Given the description of an element on the screen output the (x, y) to click on. 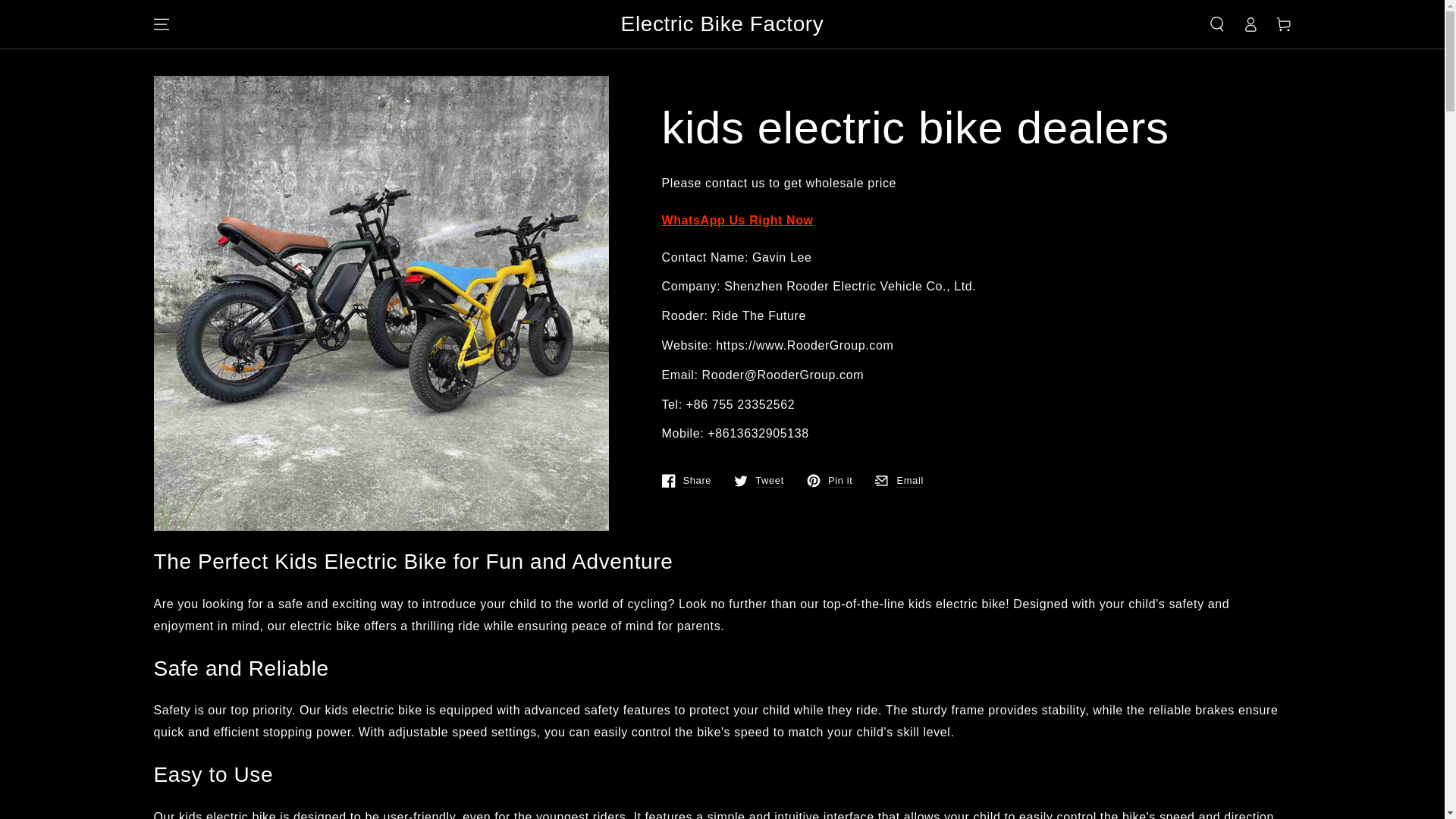
SKIP TO PRODUCT INFORMATION (243, 94)
WhatsApp Us Right Now (736, 219)
SKIP TO CONTENT (899, 480)
Electric Bike Factory (686, 480)
Log in (67, 14)
